Given the description of an element on the screen output the (x, y) to click on. 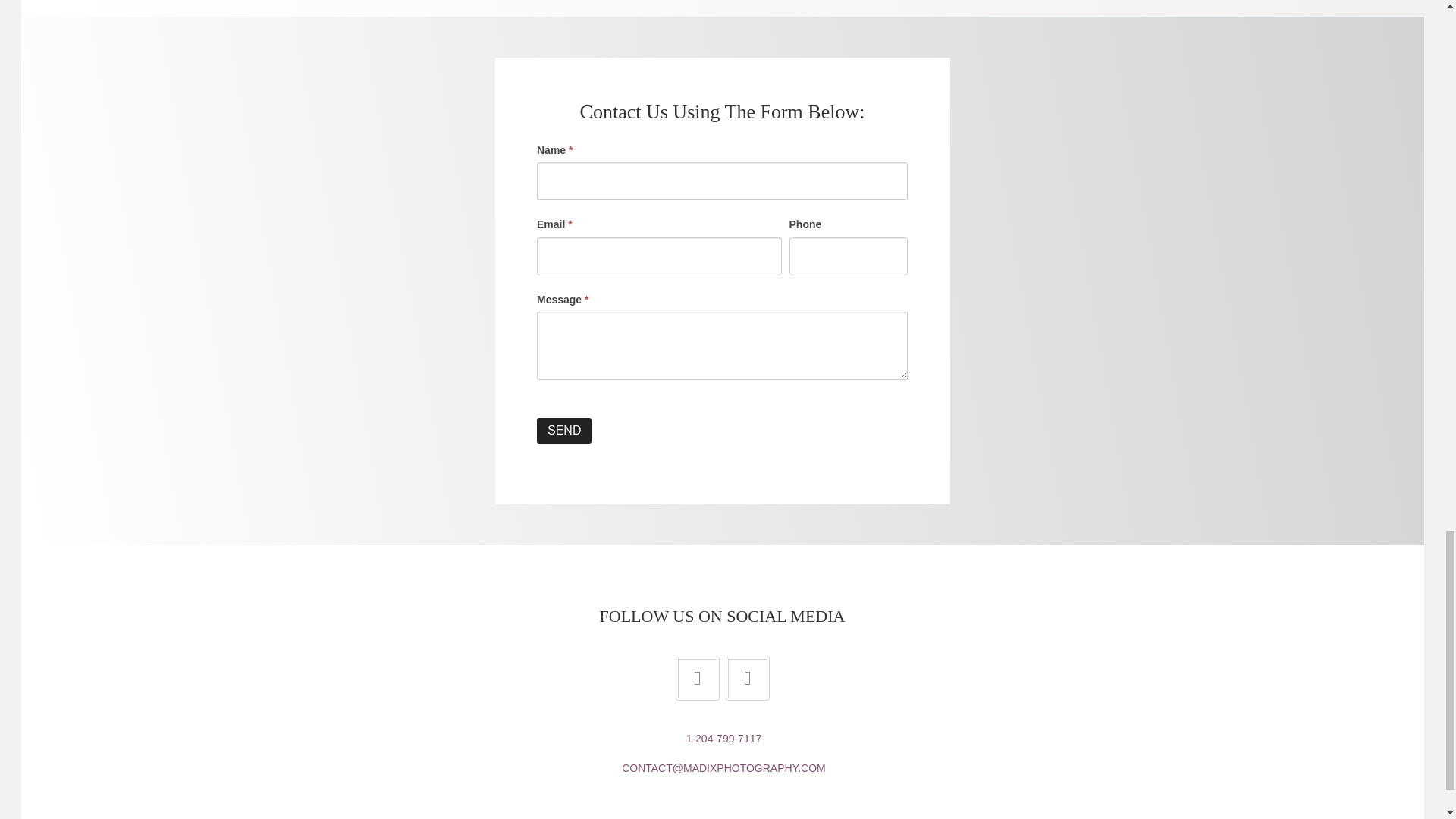
Follow on Instagram (746, 678)
1-204-799-7117 (723, 738)
SEND (564, 430)
Follow on Facebook (697, 678)
